Given the description of an element on the screen output the (x, y) to click on. 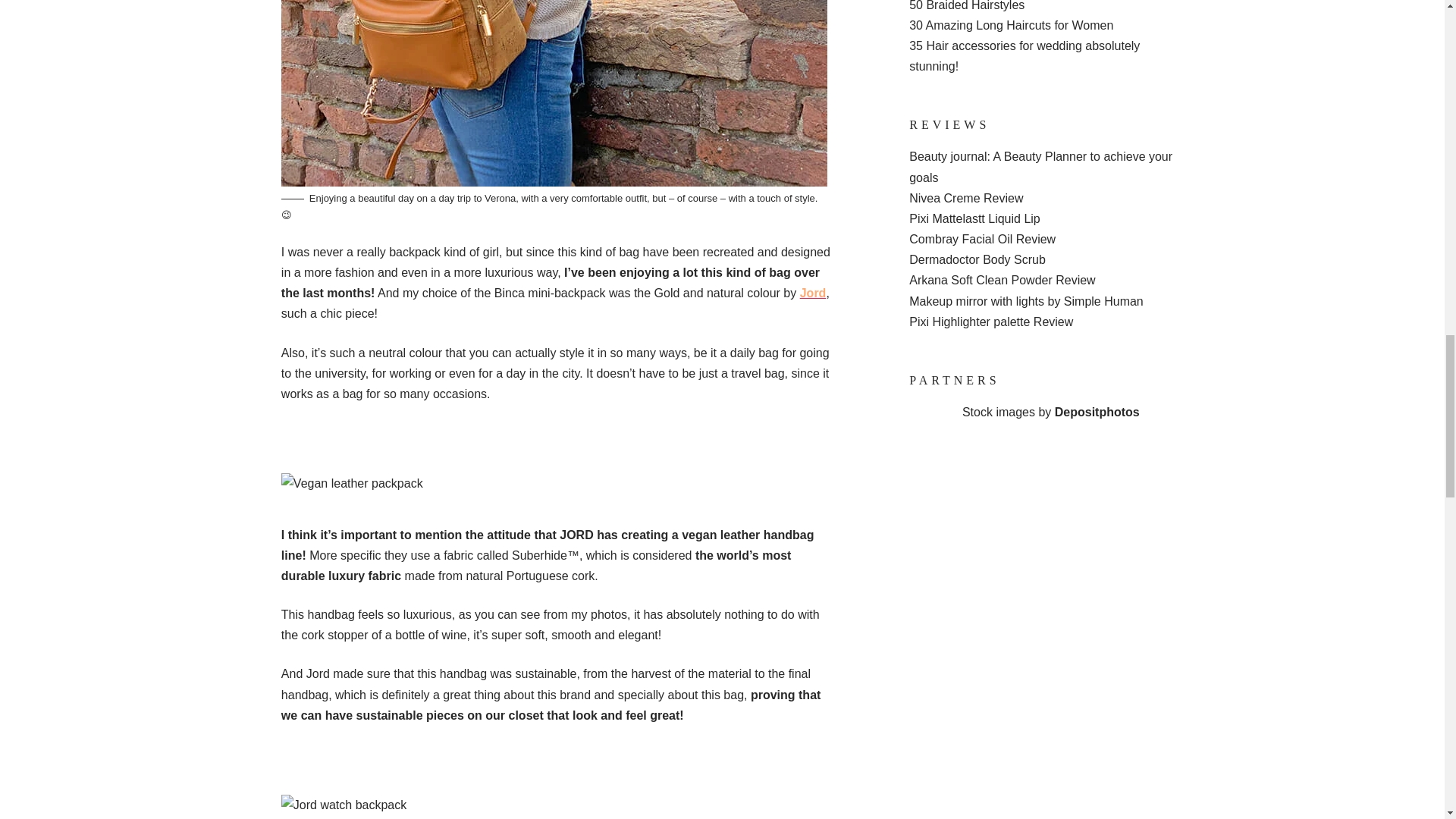
Jord packpack (554, 93)
Vegan leather packpack (352, 483)
Jord watch backpack (343, 804)
